Given the description of an element on the screen output the (x, y) to click on. 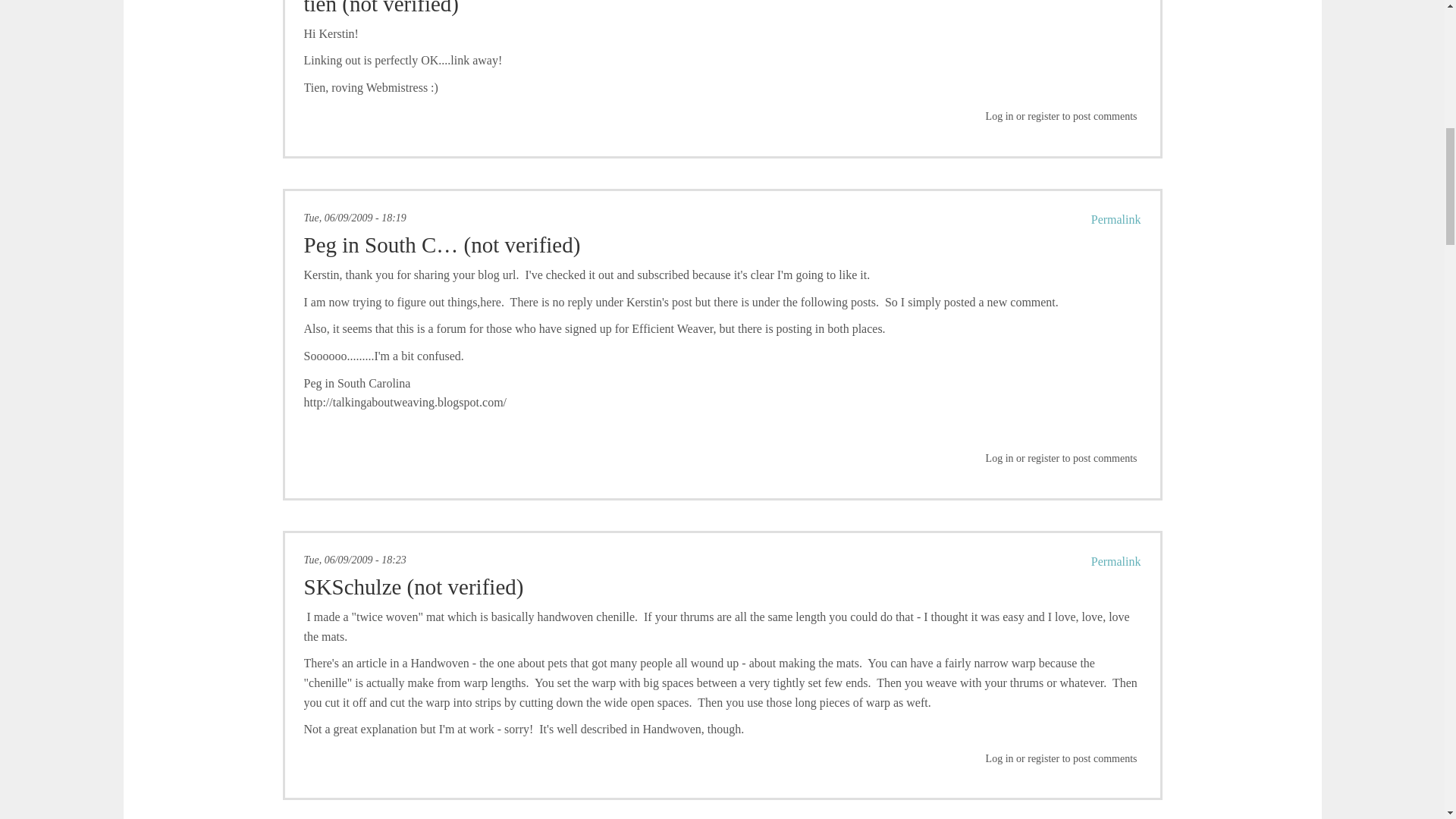
Log in (999, 758)
Permalink (1115, 561)
register (1043, 458)
Log in (999, 116)
Permalink (1115, 219)
Log in (999, 458)
register (1043, 758)
register (1043, 116)
